Given the description of an element on the screen output the (x, y) to click on. 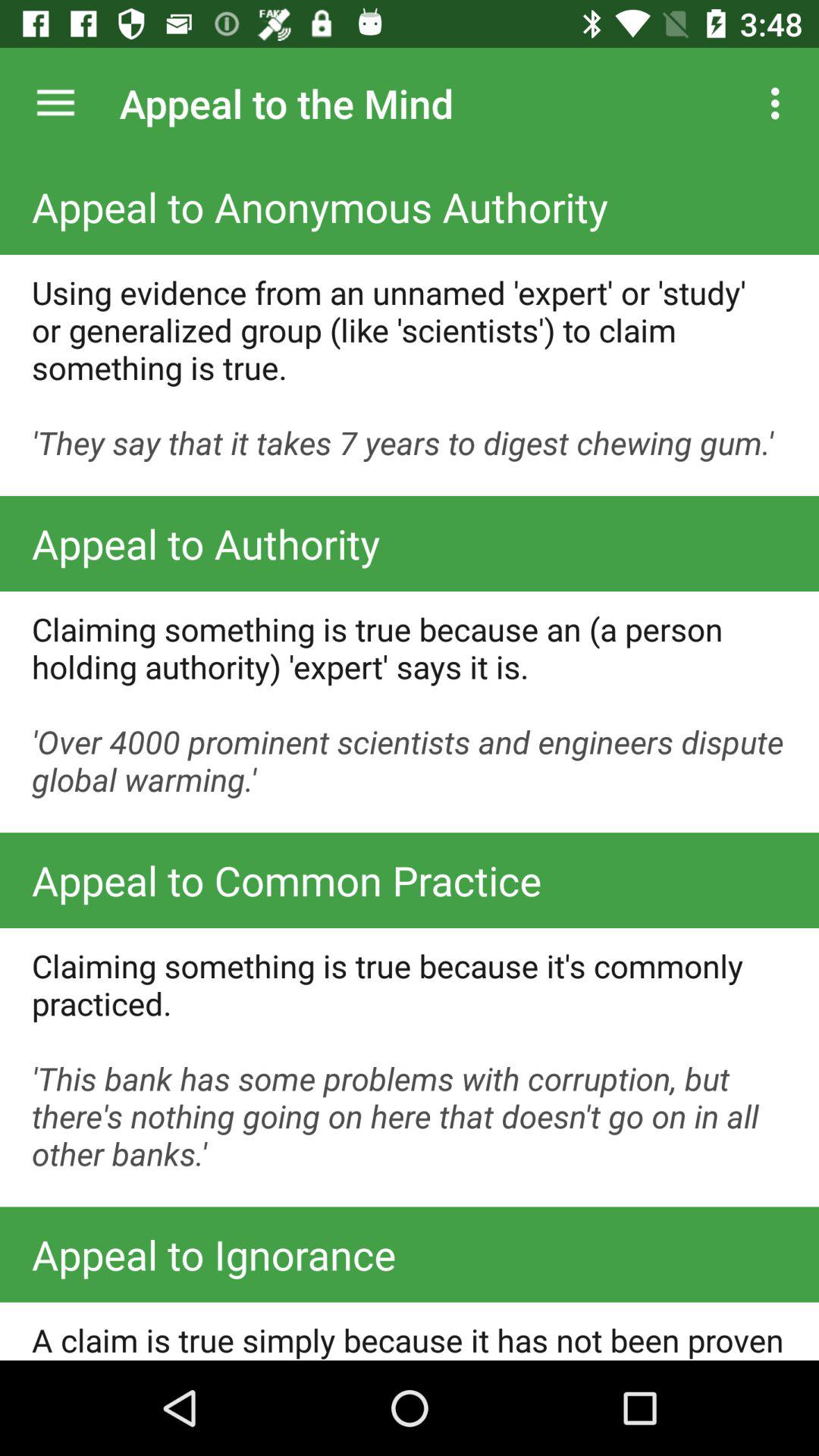
tap the icon at the top left corner (55, 103)
